Given the description of an element on the screen output the (x, y) to click on. 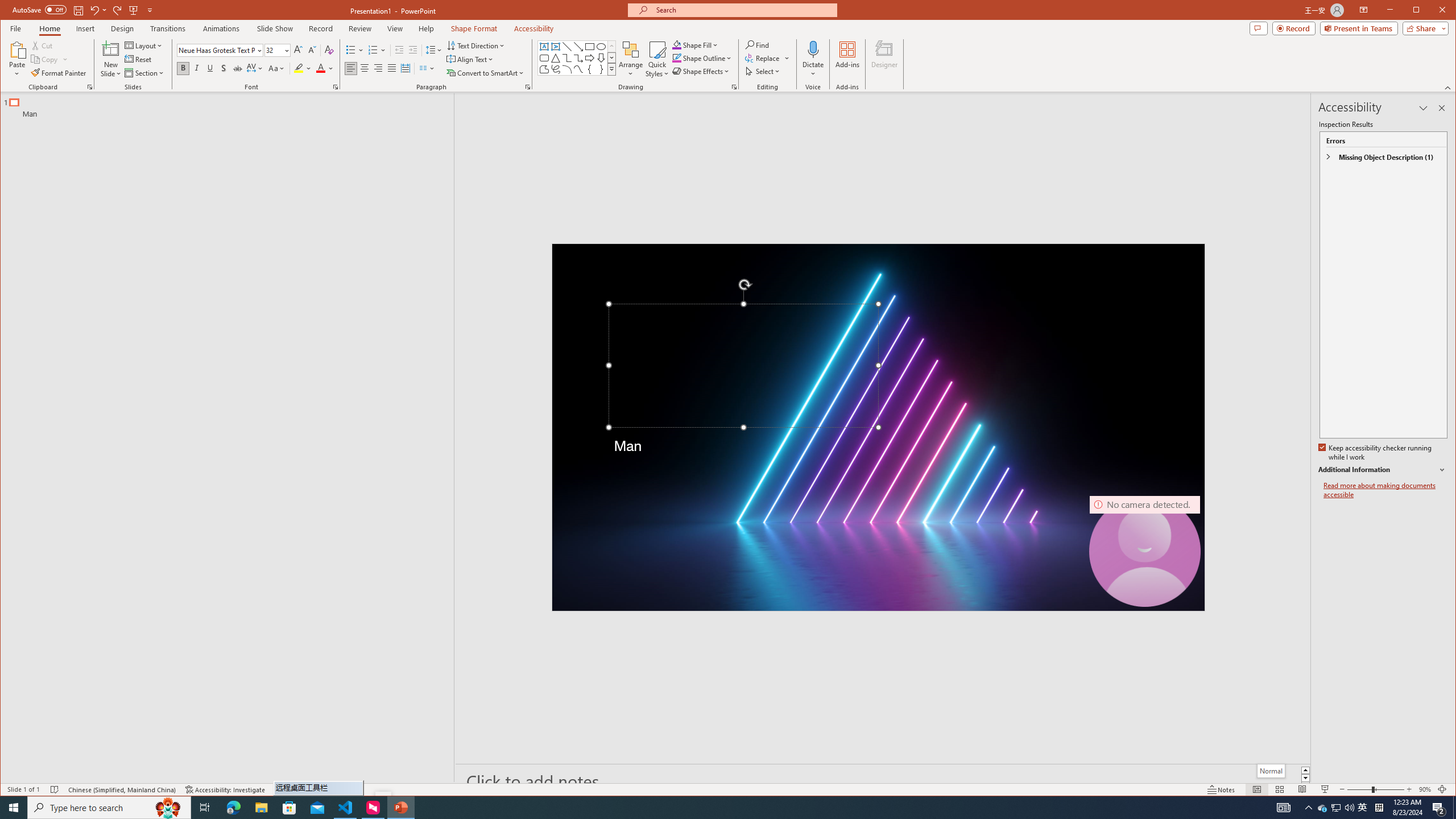
Text Highlight Color (302, 68)
Type here to search (108, 807)
Freeform: Shape (544, 69)
Shape Fill (695, 44)
Connector: Elbow Arrow (577, 57)
Cut (42, 45)
Decrease Indent (399, 49)
Notification Chevron (1308, 807)
